Given the description of an element on the screen output the (x, y) to click on. 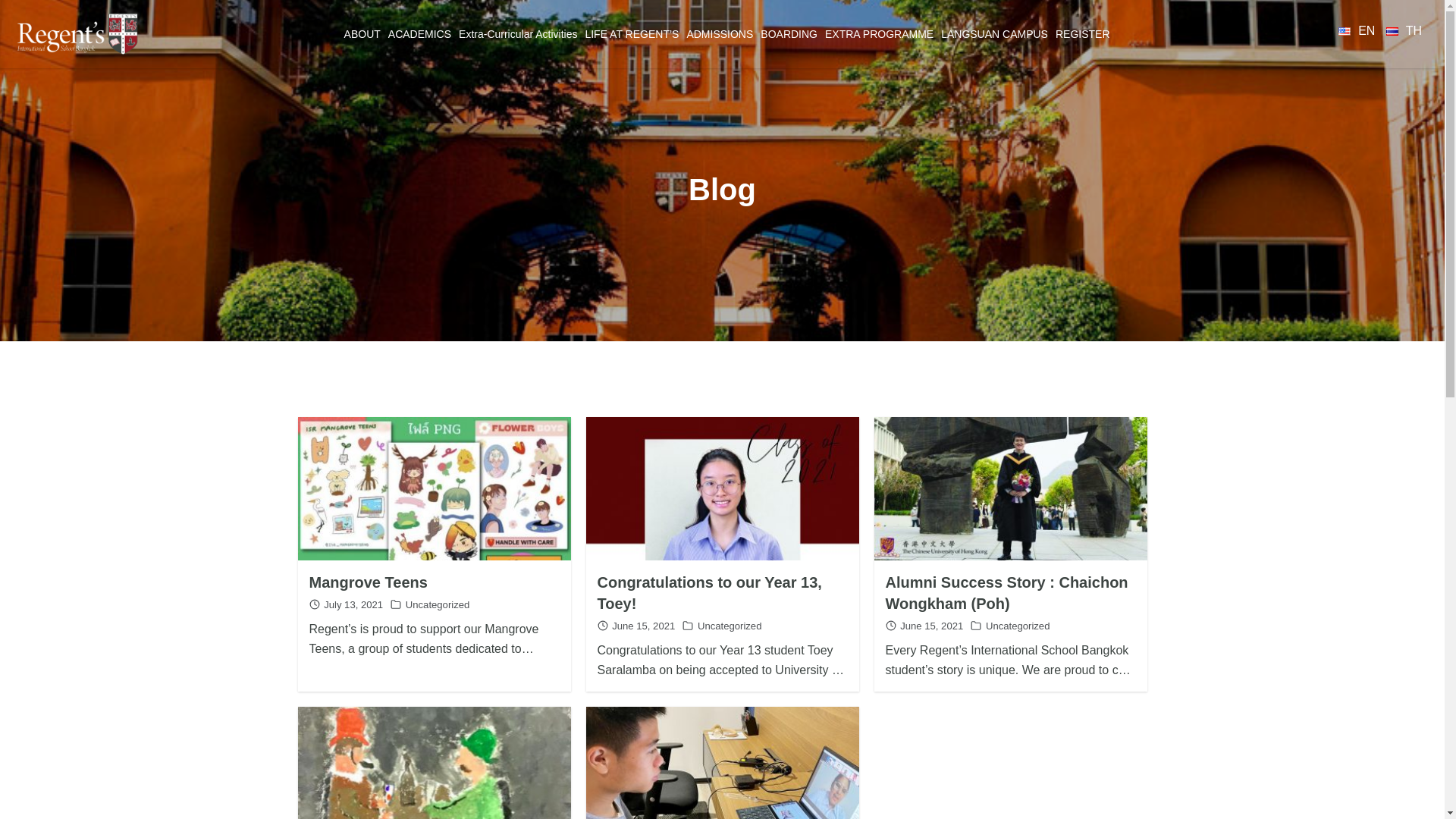
Permalink to Congratulations to our Year 13, Toey! (722, 487)
Permalink to Round Square Conference (722, 776)
ABOUT (362, 33)
Permalink to Mangrove Teens (433, 487)
Permalink to Year 5 Impressionism (433, 776)
ACADEMICS (419, 33)
Extra-Curricular Activities (517, 33)
